Given the description of an element on the screen output the (x, y) to click on. 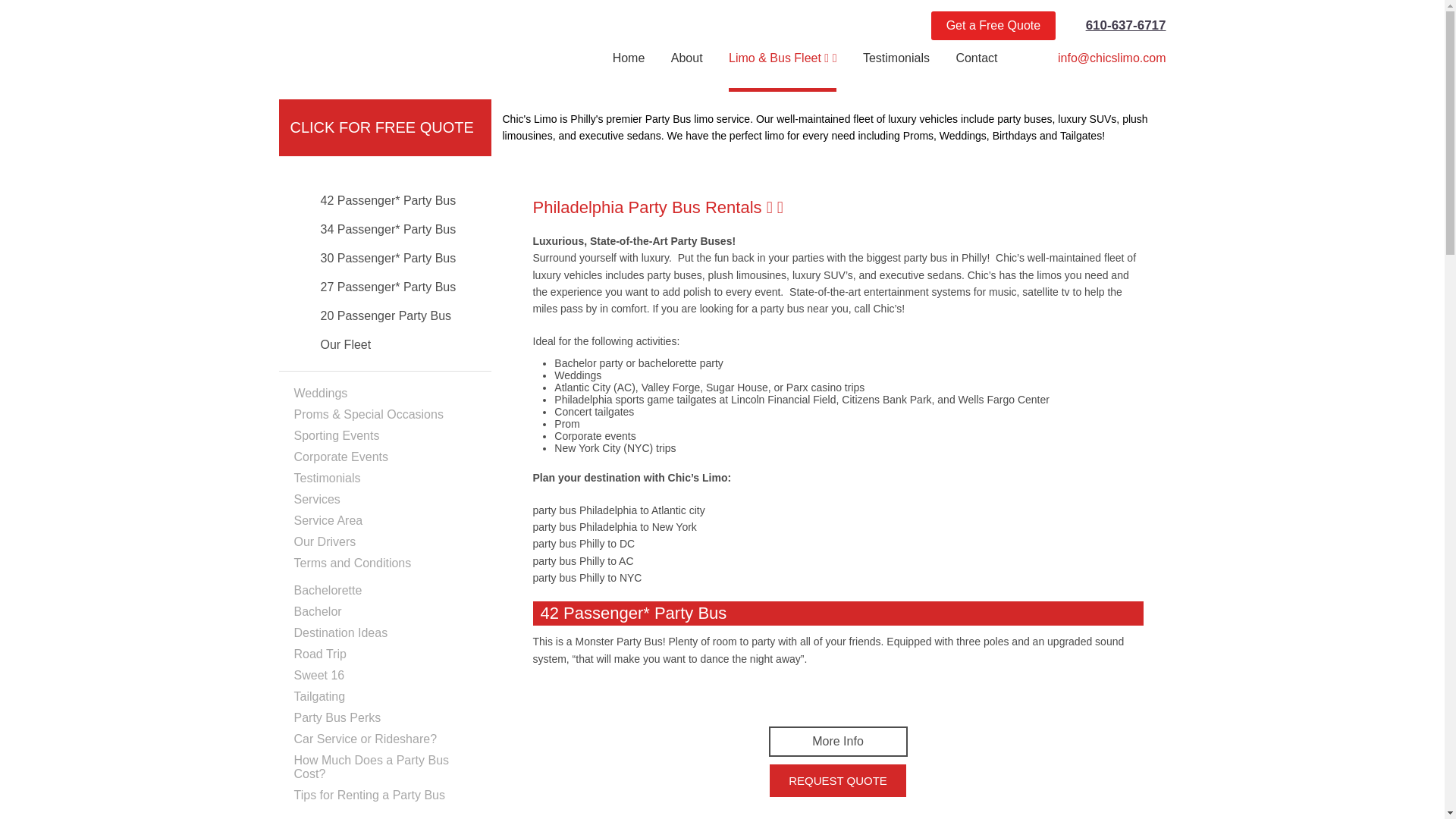
610-637-6717 (1126, 25)
Corporate Events (341, 456)
More Info (837, 741)
Contact (976, 69)
Testimonials (896, 69)
Get a Free Quote (994, 25)
View Video (837, 696)
Sporting Events (337, 435)
Our Fleet (332, 344)
20 Passenger Party Bus (372, 315)
Weddings (320, 392)
CLICK FOR FREE QUOTE (381, 126)
REQUEST QUOTE (837, 780)
Home (628, 69)
